Given the description of an element on the screen output the (x, y) to click on. 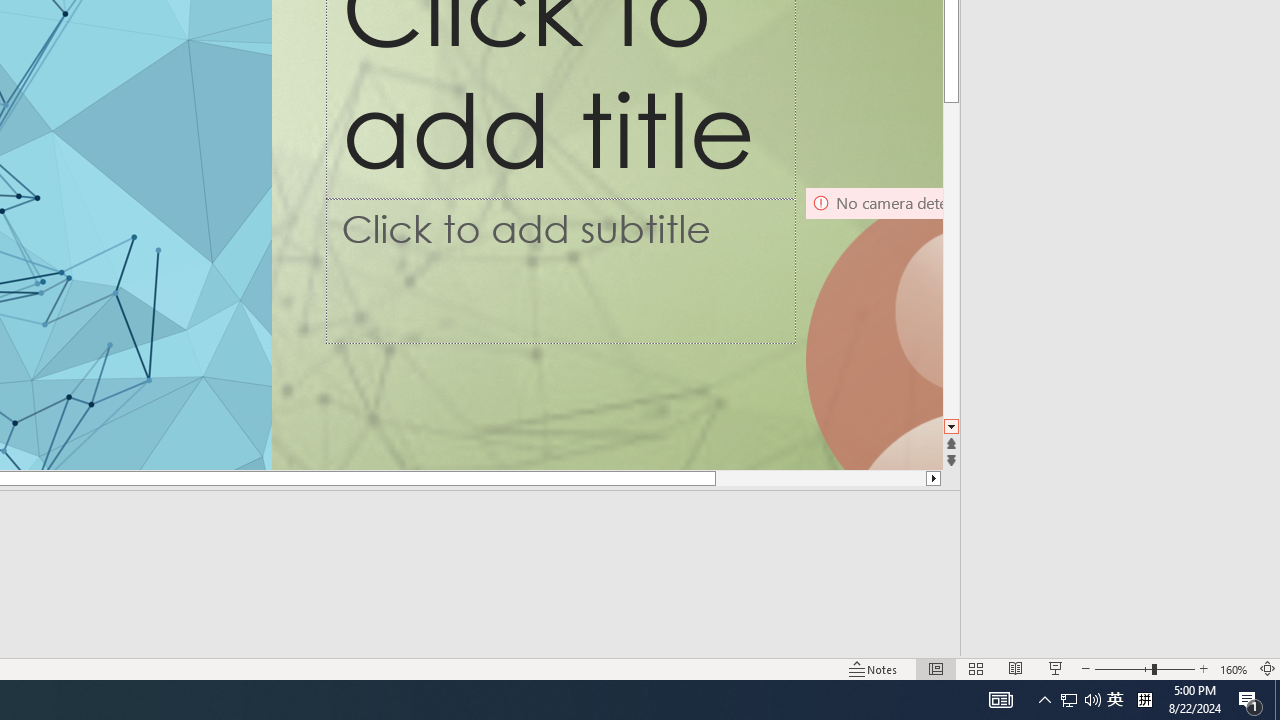
Camera 9, No camera detected. (873, 327)
Zoom 160% (1234, 668)
Page down (951, 222)
Subtitle TextBox (561, 271)
